Given the description of an element on the screen output the (x, y) to click on. 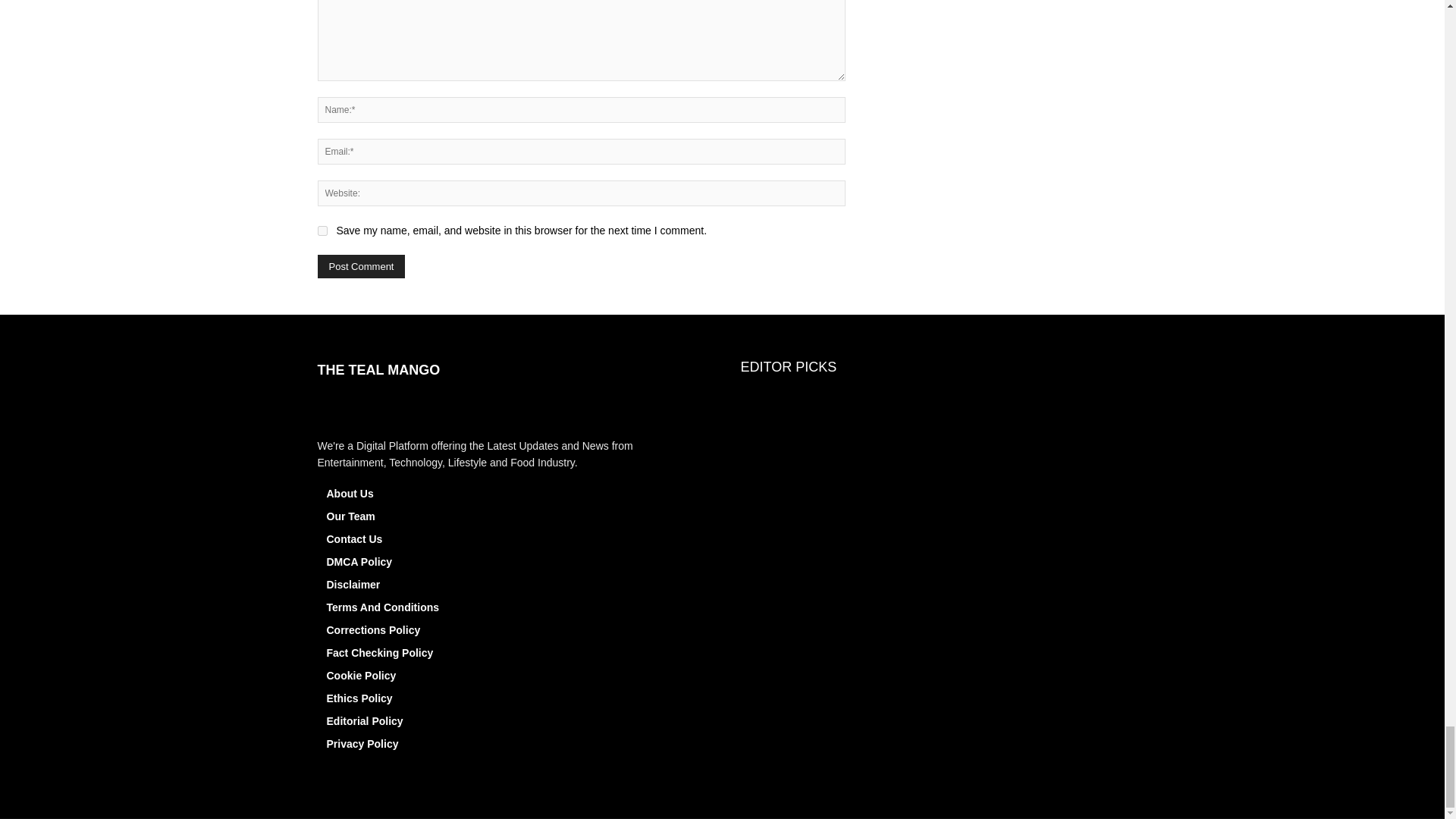
yes (321, 230)
Post Comment (360, 266)
